Given the description of an element on the screen output the (x, y) to click on. 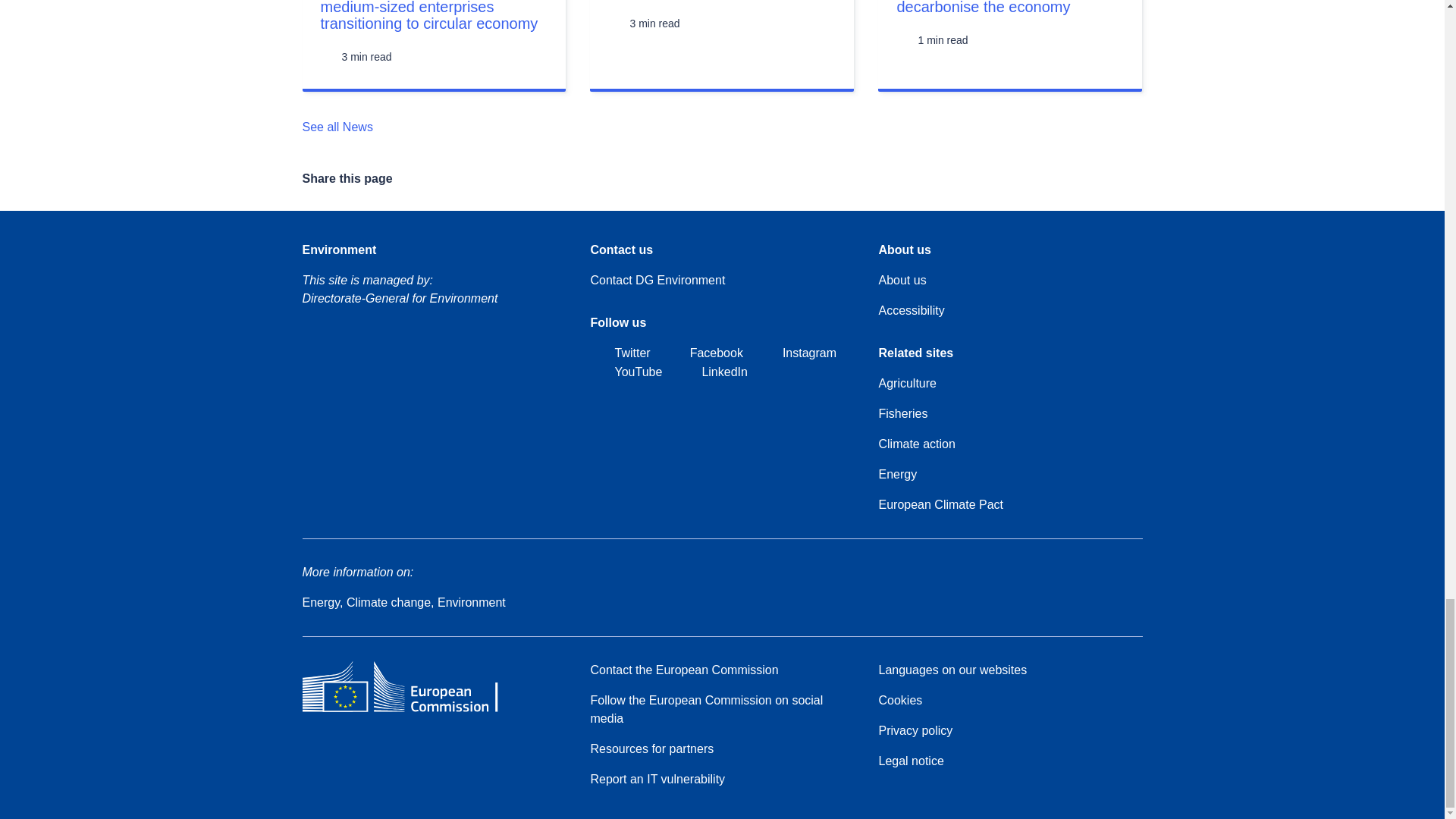
Environment (338, 249)
See all News (345, 126)
European Commission (411, 711)
